Given the description of an element on the screen output the (x, y) to click on. 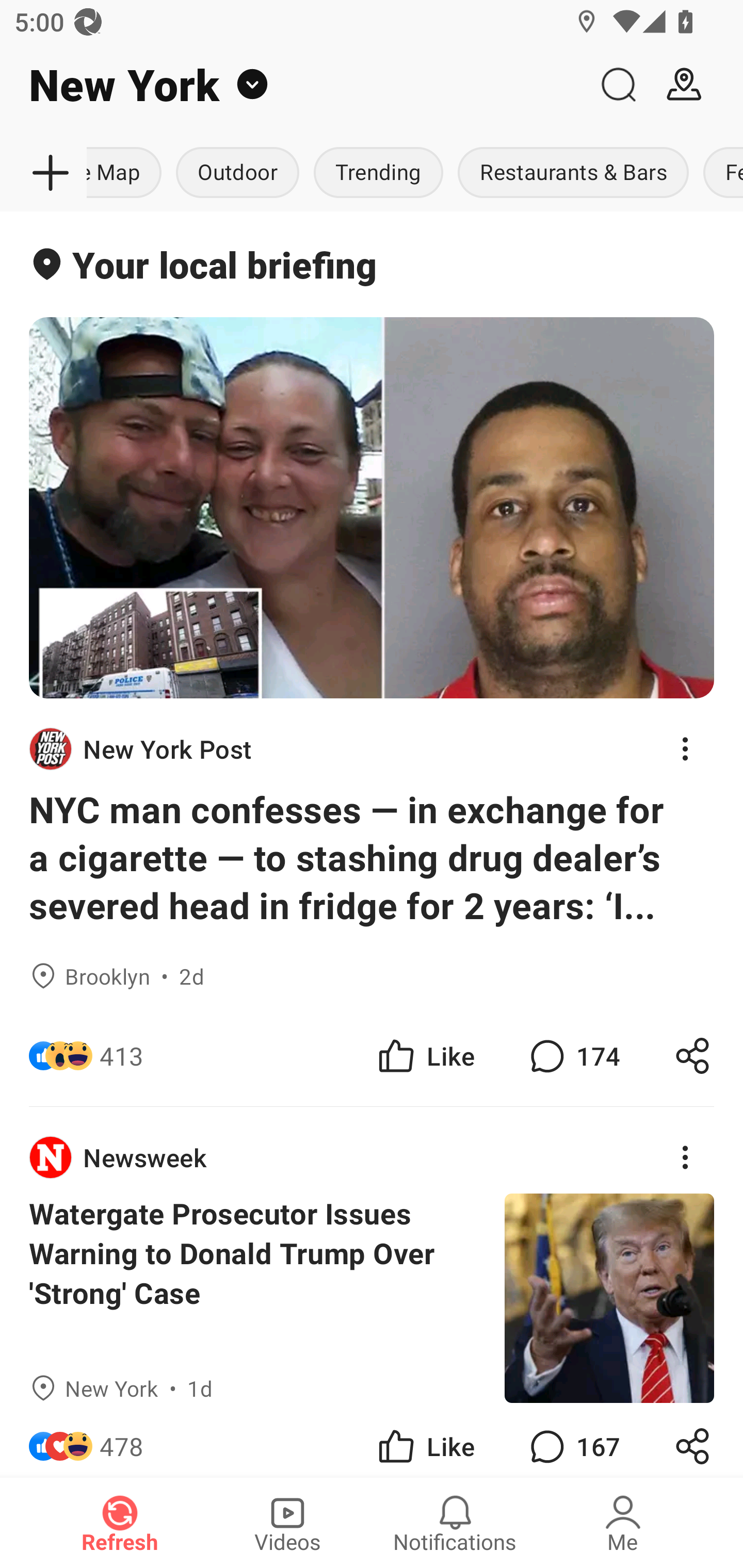
New York (292, 84)
Outdoor (237, 172)
Trending (378, 172)
Restaurants & Bars (573, 172)
413 (121, 1055)
Like (425, 1055)
174 (572, 1055)
478 (121, 1440)
Like (425, 1440)
167 (572, 1440)
Videos (287, 1522)
Notifications (455, 1522)
Me (622, 1522)
